Given the description of an element on the screen output the (x, y) to click on. 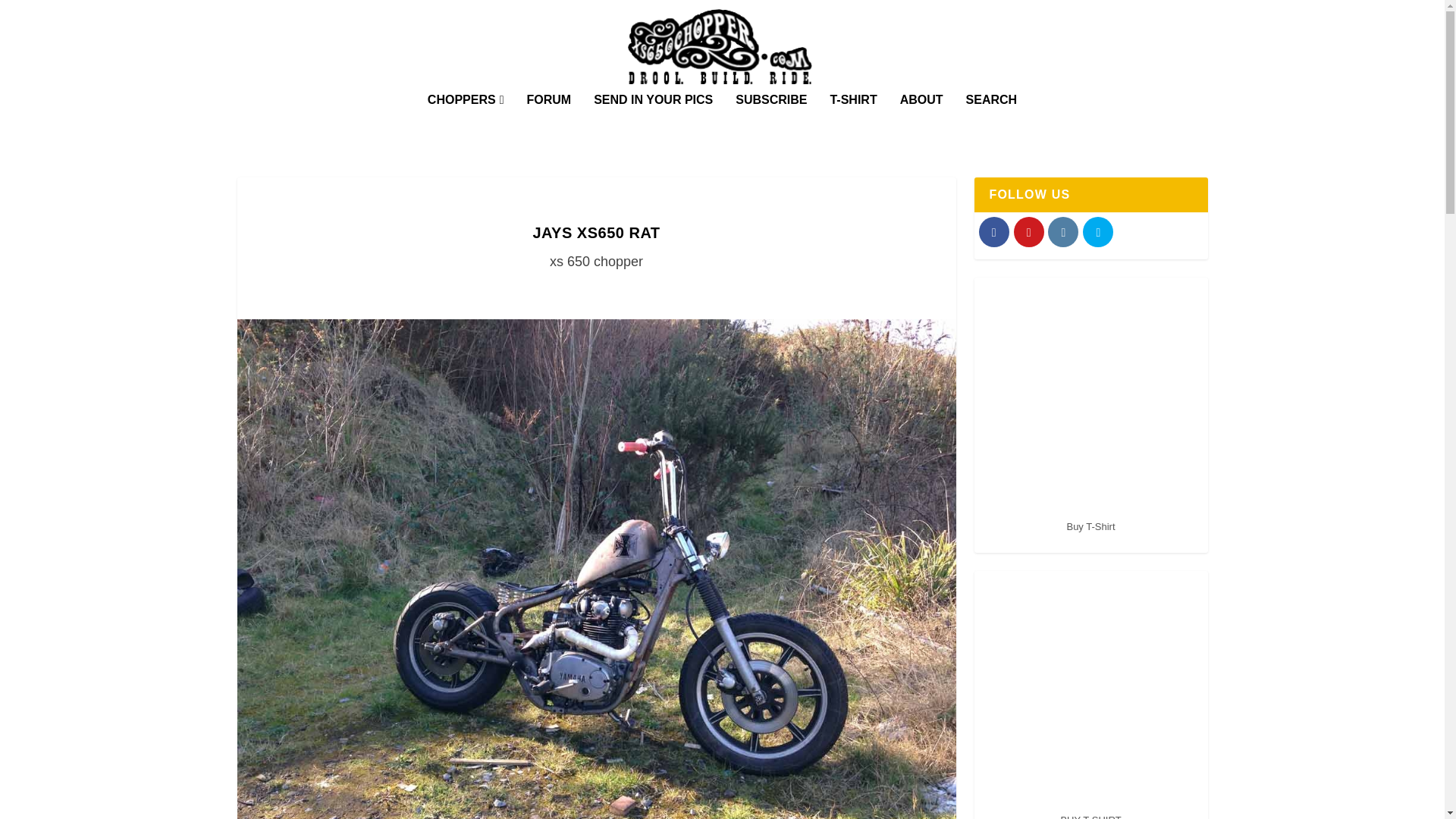
SUBSCRIBE (770, 120)
SEND IN YOUR PICS (653, 120)
SEARCH (991, 120)
xs 650 chopper (596, 261)
SEND IN YOUR PICS. (653, 120)
CHOPPERS (465, 120)
